Given the description of an element on the screen output the (x, y) to click on. 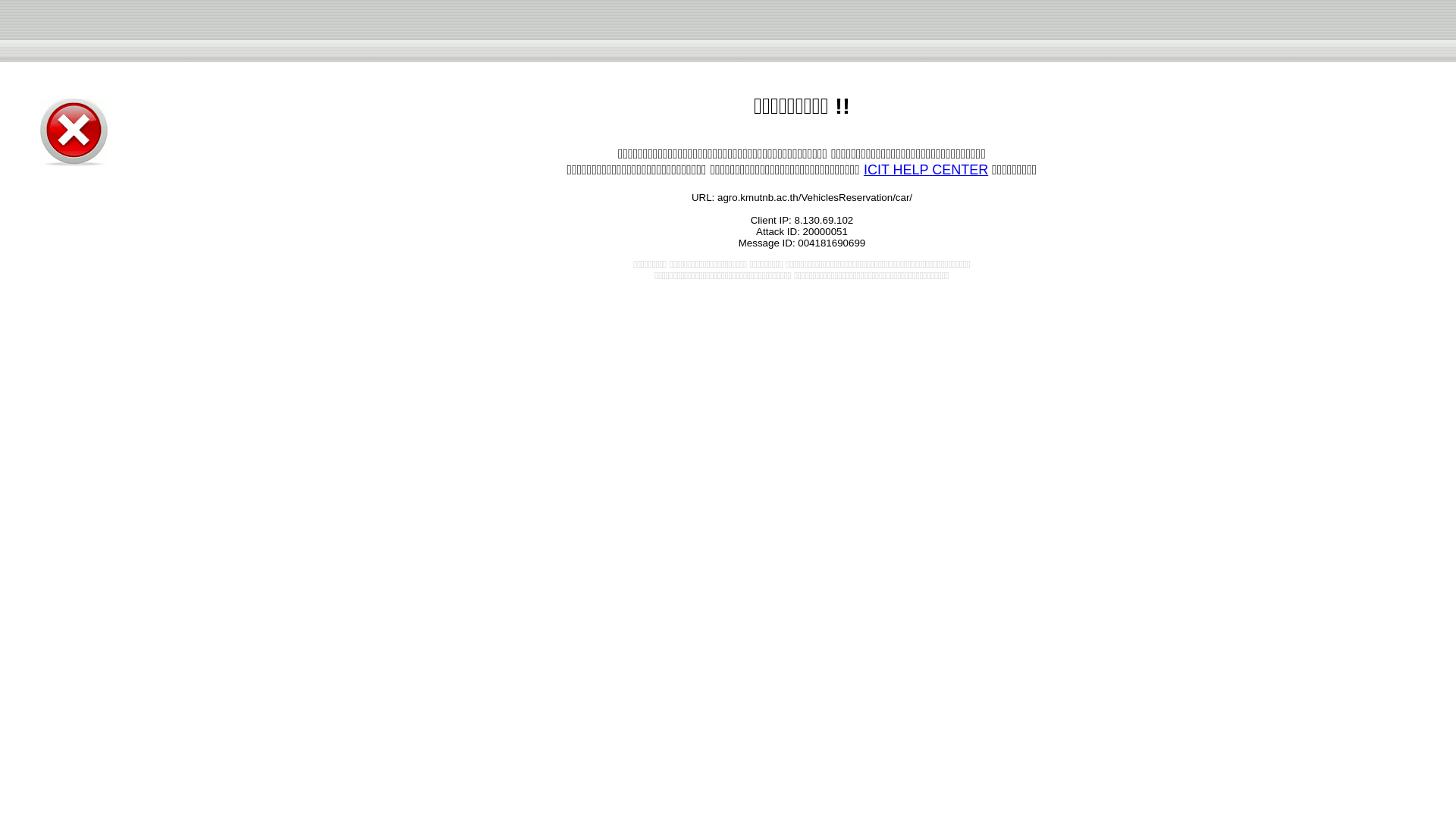
ICIT HELP CENTER (925, 169)
